Given the description of an element on the screen output the (x, y) to click on. 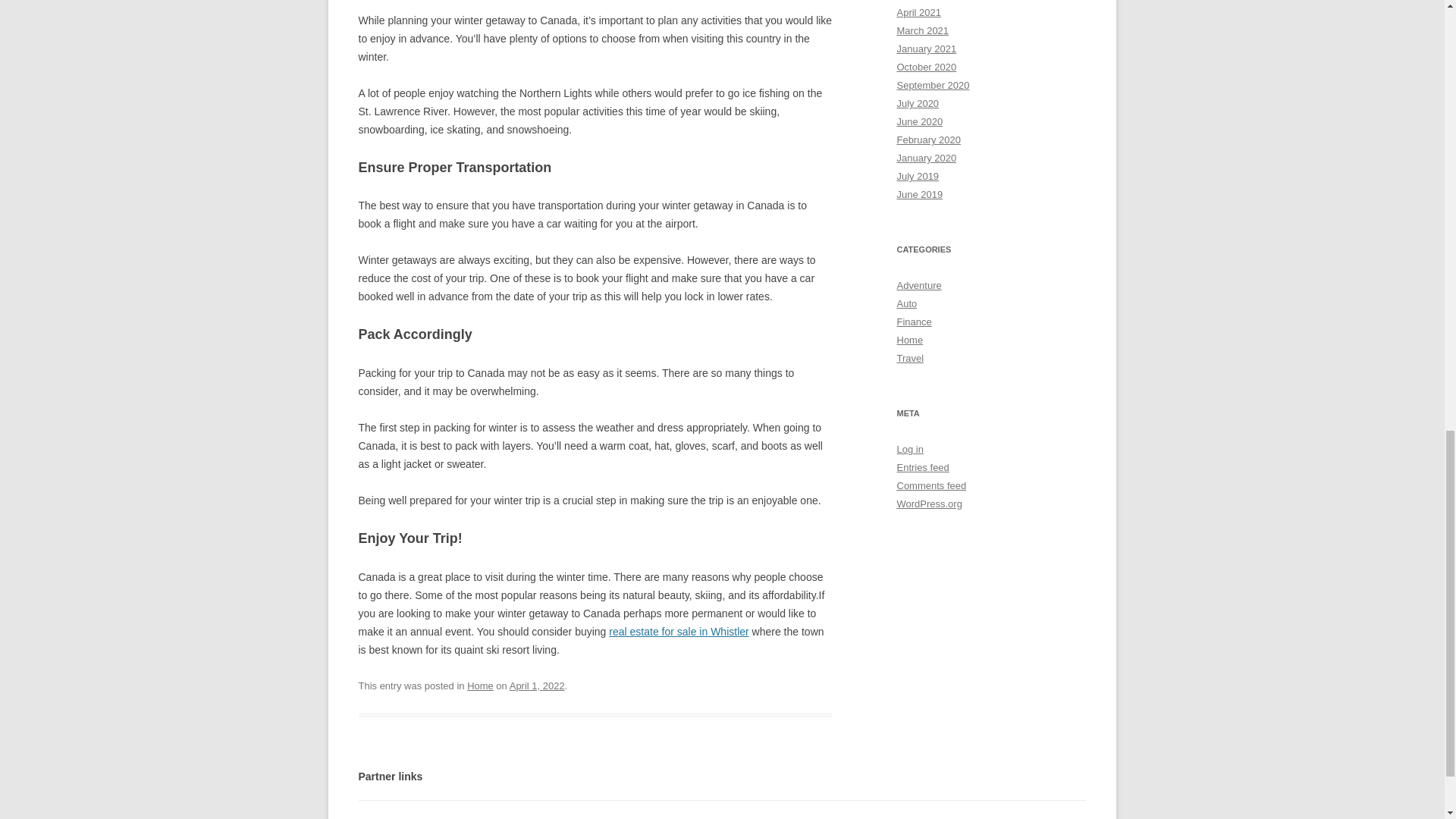
September 2020 (932, 84)
February 2020 (927, 139)
June 2019 (919, 194)
Adventure (918, 285)
July 2020 (917, 102)
Auto (906, 303)
April 2021 (918, 12)
March 2021 (922, 30)
July 2019 (917, 175)
Home (480, 685)
